Given the description of an element on the screen output the (x, y) to click on. 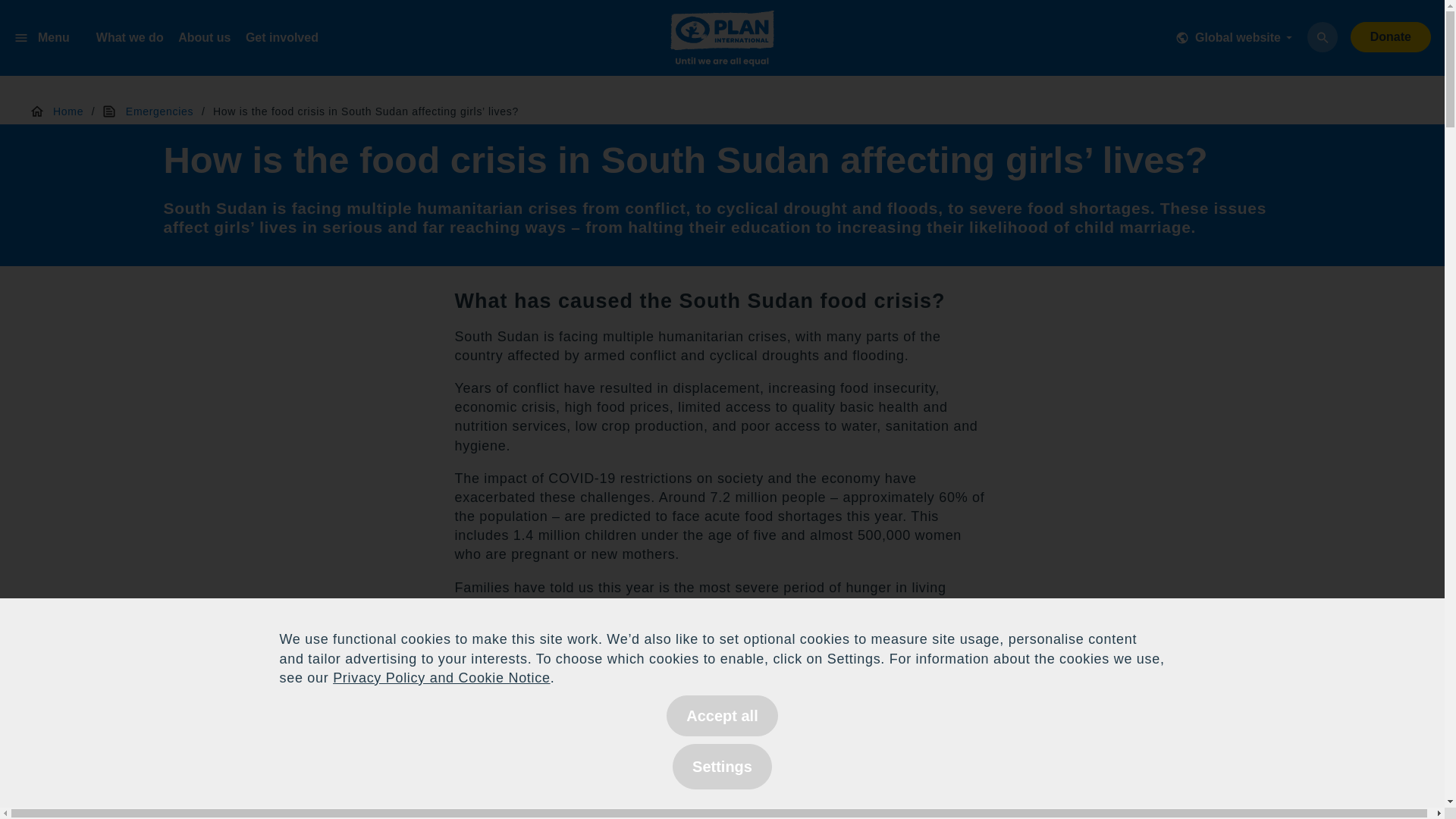
About us (203, 37)
What we do (129, 37)
Get involved (282, 37)
Plan International (721, 41)
